Given the description of an element on the screen output the (x, y) to click on. 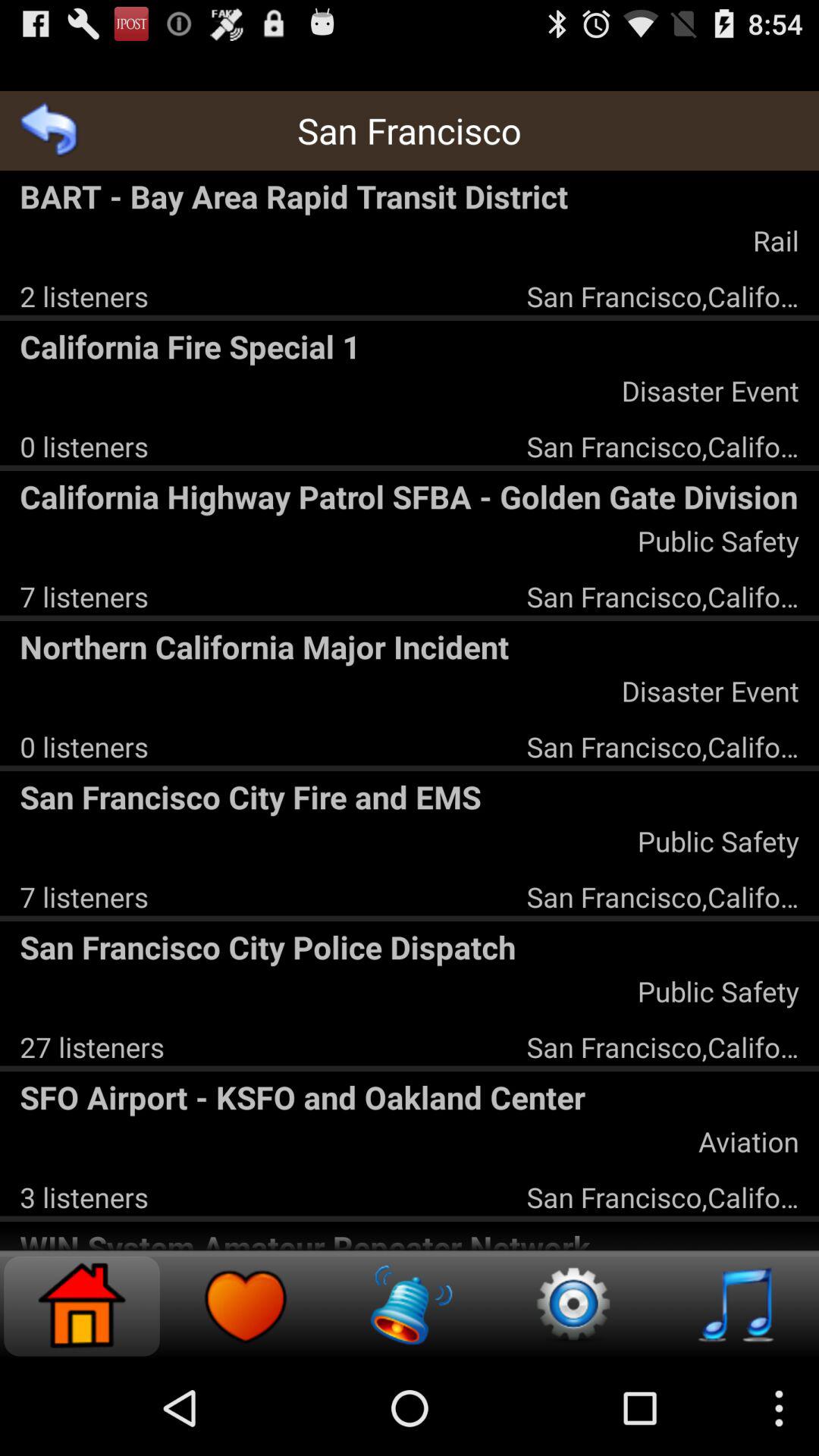
choose the icon below the 3 listeners icon (409, 1237)
